Given the description of an element on the screen output the (x, y) to click on. 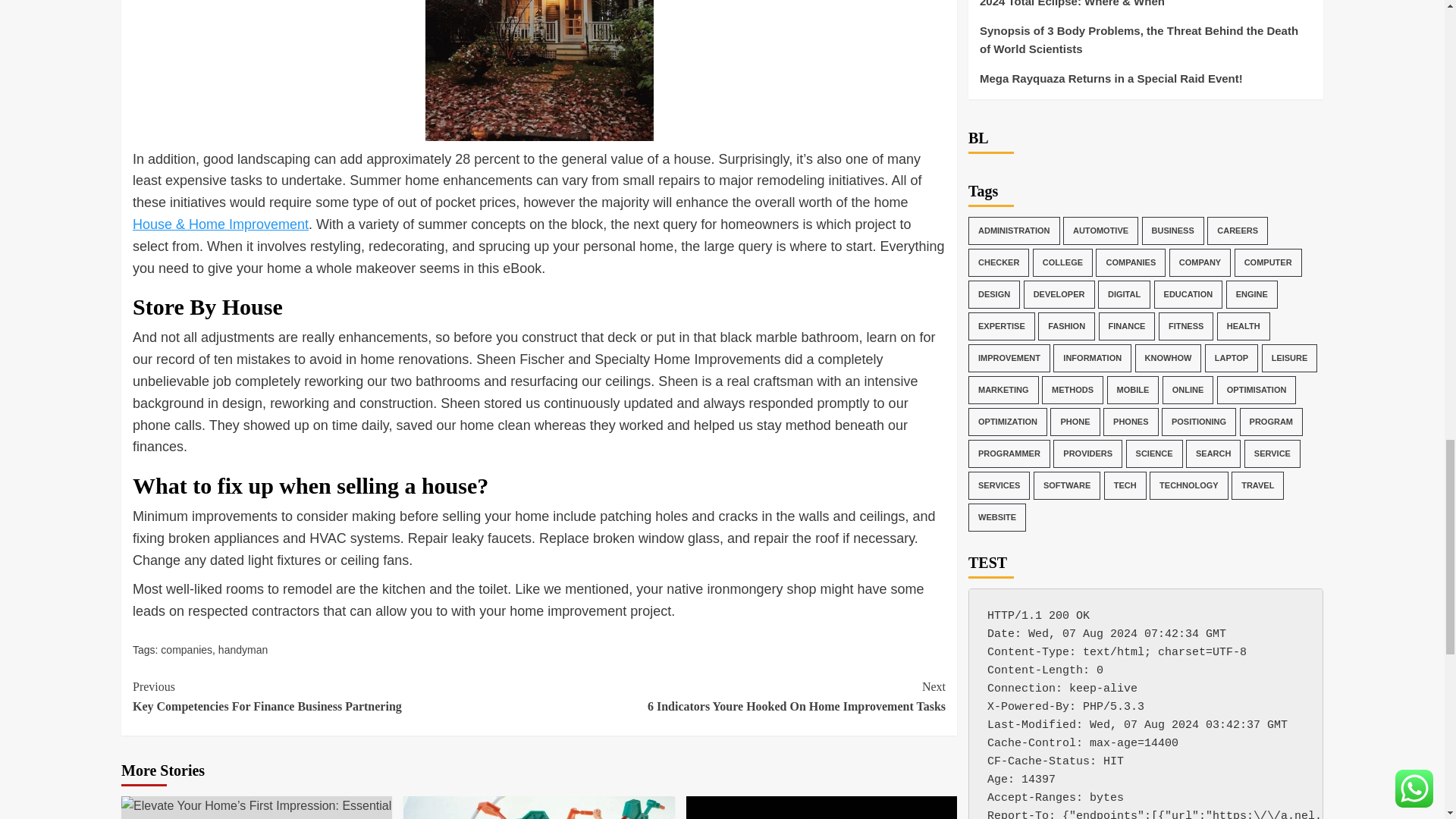
handyman (335, 696)
companies (242, 649)
NVIDIA Corporation: Pioneering the Future of Technology (741, 696)
